Given the description of an element on the screen output the (x, y) to click on. 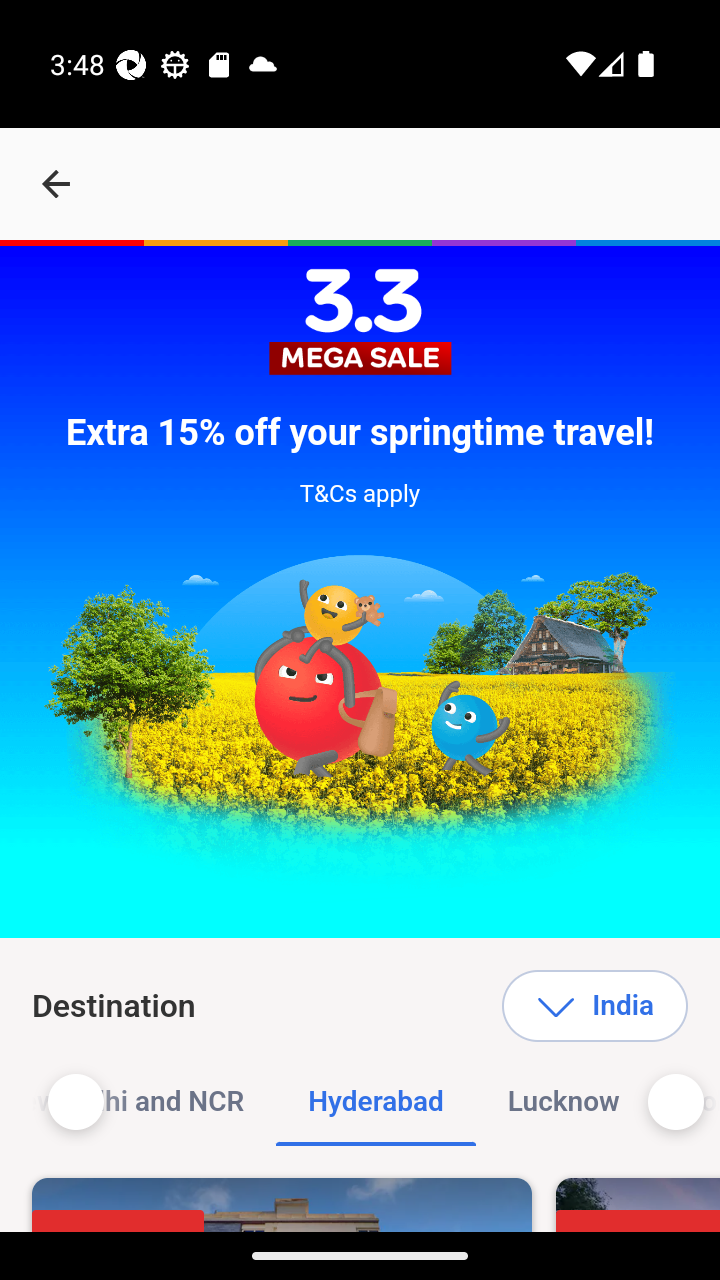
navigation_button (56, 184)
India (594, 1005)
New Delhi and NCR (150, 1101)
Hyderabad (375, 1101)
Lucknow (562, 1101)
